Given the description of an element on the screen output the (x, y) to click on. 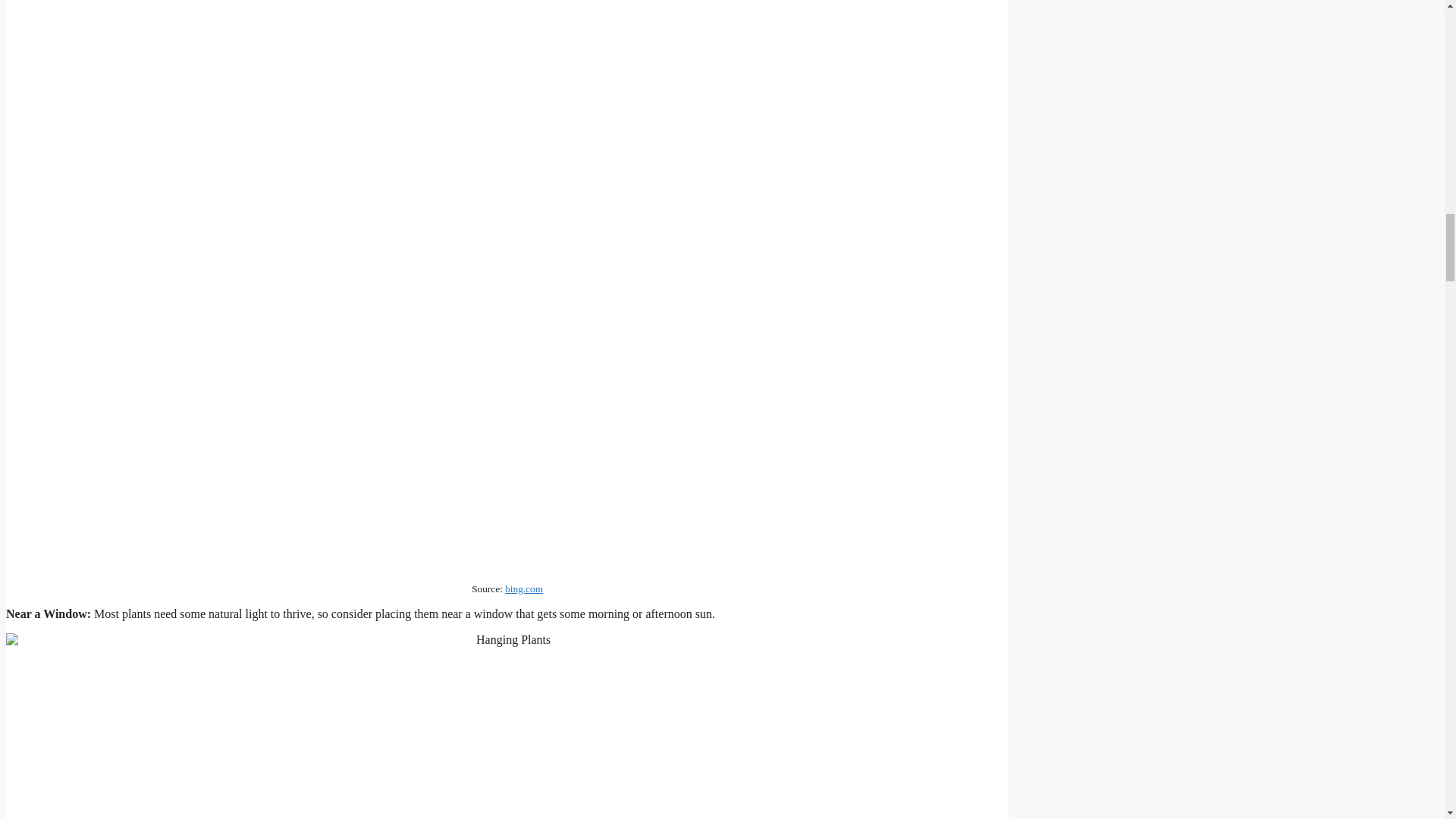
bing.com (524, 588)
